Given the description of an element on the screen output the (x, y) to click on. 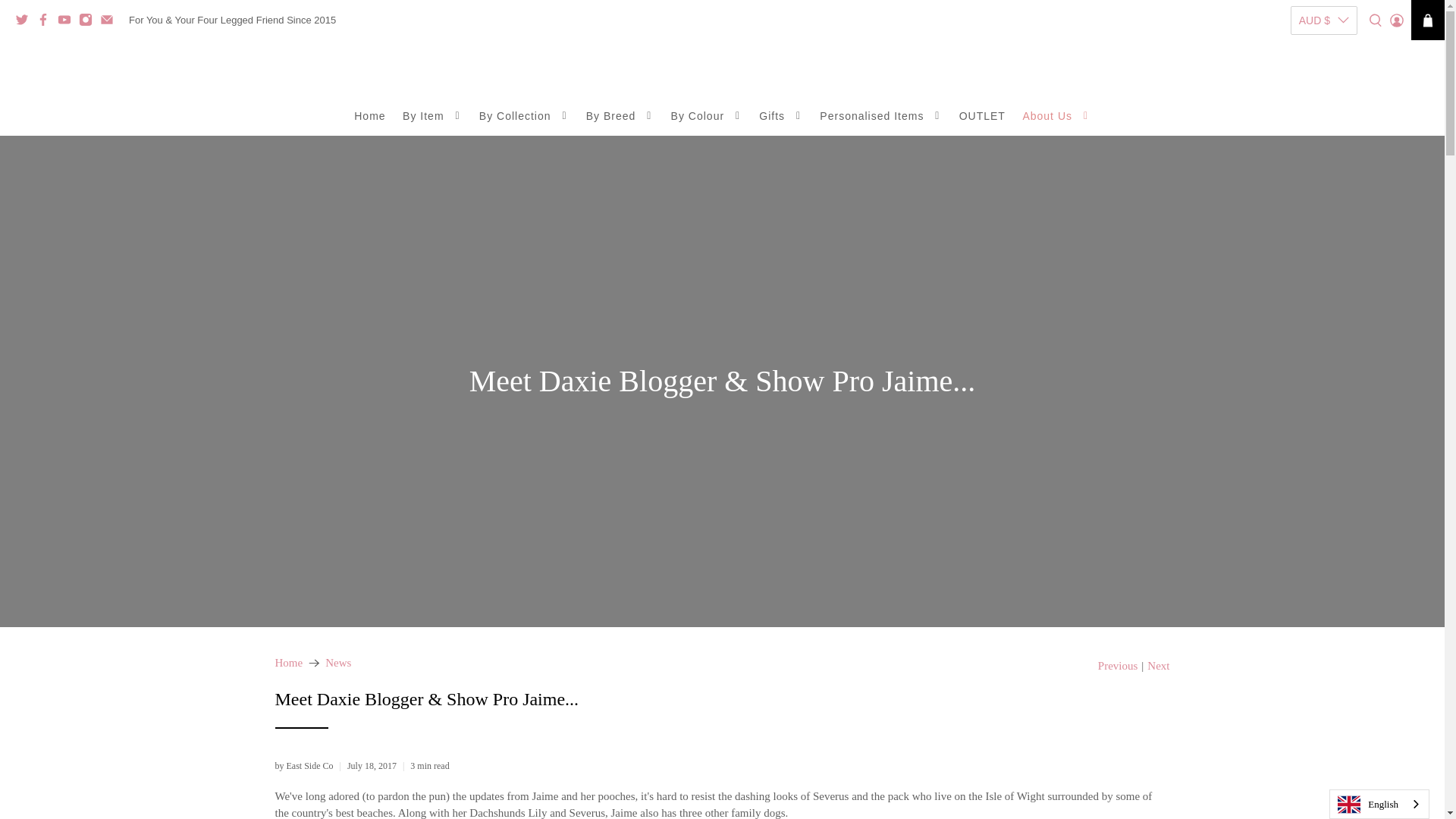
AUD (1323, 53)
SEK (1323, 189)
By Item (432, 116)
Teddy Maximus on Facebook (47, 21)
Home (370, 116)
GBP (1323, 162)
Email Teddy Maximus (110, 21)
Next (1158, 665)
EUR (1323, 135)
Teddy Maximus on YouTube (68, 21)
